Given the description of an element on the screen output the (x, y) to click on. 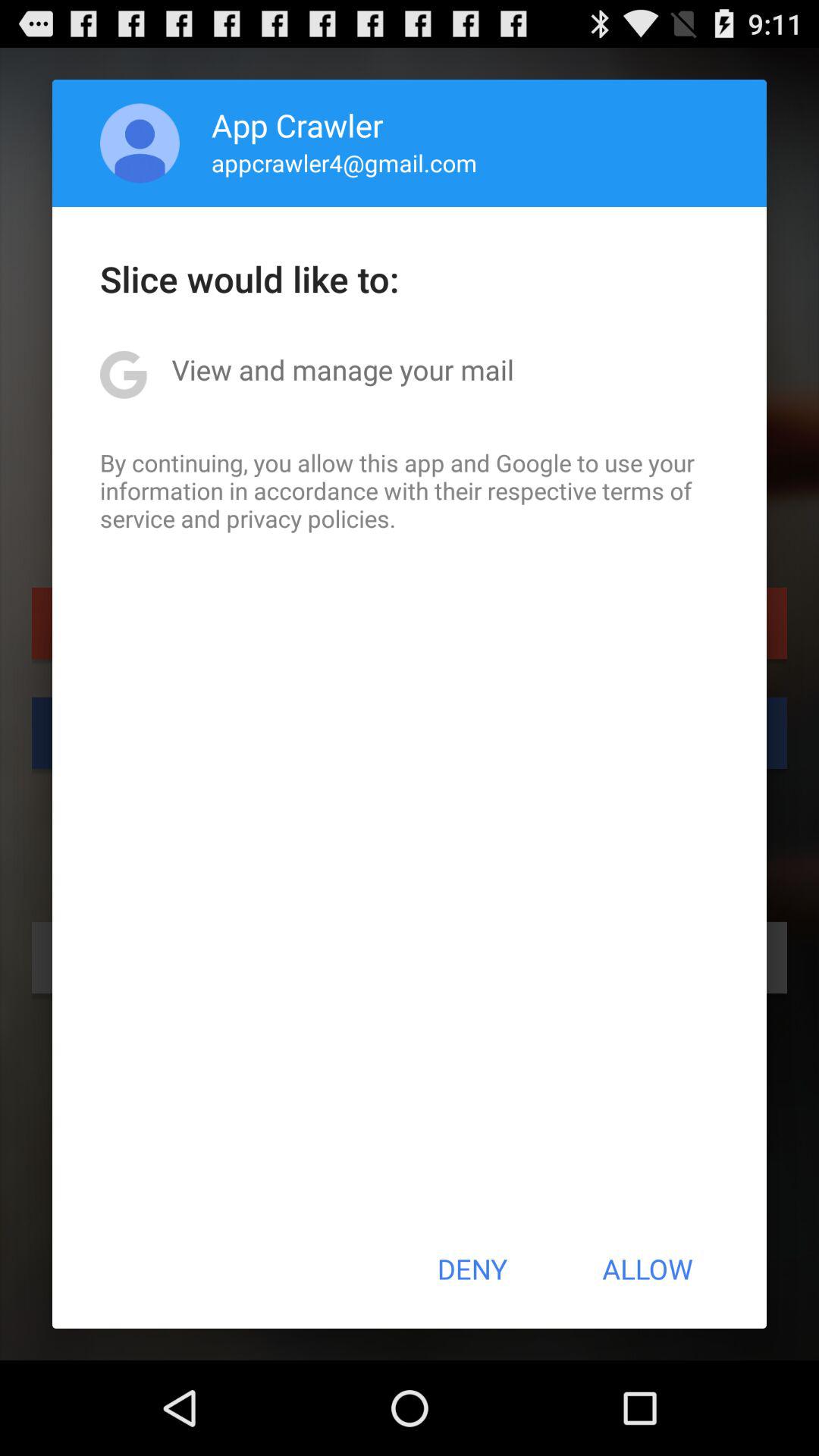
click the app crawler item (297, 124)
